Given the description of an element on the screen output the (x, y) to click on. 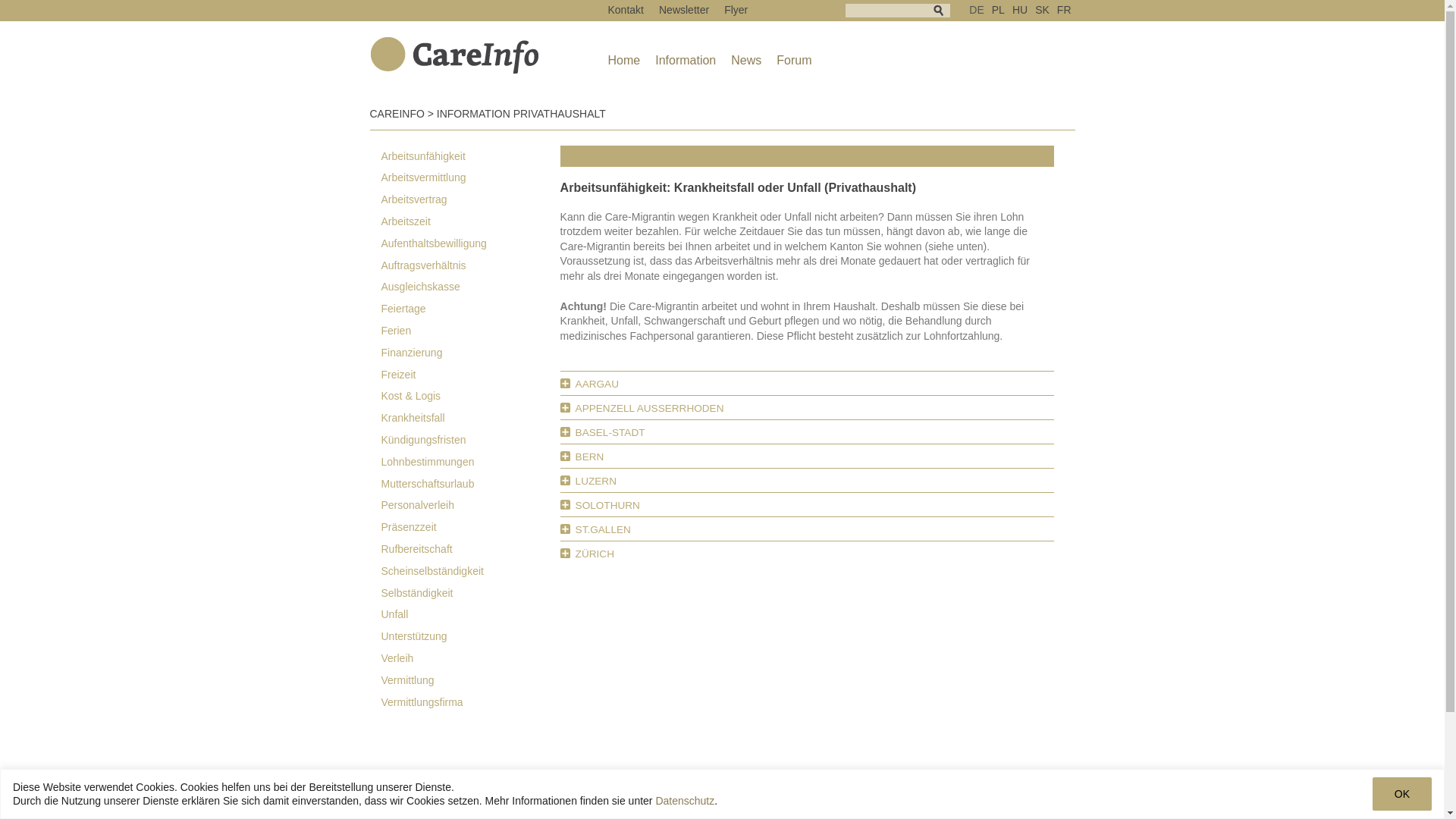
Kontakt Element type: text (625, 9)
Lohnbestimmungen Element type: text (470, 462)
Rufbereitschaft Element type: text (470, 549)
Ausgleichskasse Element type: text (470, 286)
Krankheitsfall Element type: text (470, 418)
Freizeit Element type: text (470, 374)
News Element type: text (746, 59)
Newsletter Element type: text (683, 9)
Datenschutz Element type: text (684, 800)
Unfall Element type: text (470, 614)
Arbeitszeit Element type: text (470, 221)
Verleih Element type: text (470, 658)
Arbeitsvertrag Element type: text (470, 199)
Mutterschaftsurlaub Element type: text (470, 483)
Arbeitsvermittlung Element type: text (470, 177)
Home Element type: text (624, 59)
Finanzierung Element type: text (470, 352)
Vermittlungsfirma Element type: text (470, 702)
Flyer Element type: text (735, 9)
Information Element type: text (685, 59)
Personalverleih Element type: text (470, 505)
SK Element type: text (1042, 9)
HU Element type: text (1019, 9)
Kost & Logis Element type: text (470, 396)
Vermittlung Element type: text (470, 680)
Ferien Element type: text (470, 330)
FR Element type: text (1064, 9)
Aufenthaltsbewilligung Element type: text (470, 243)
Feiertage Element type: text (470, 308)
PL Element type: text (997, 9)
CAREINFO Element type: text (397, 113)
Forum Element type: text (793, 59)
OK Element type: text (1401, 793)
DE Element type: text (976, 9)
